Given the description of an element on the screen output the (x, y) to click on. 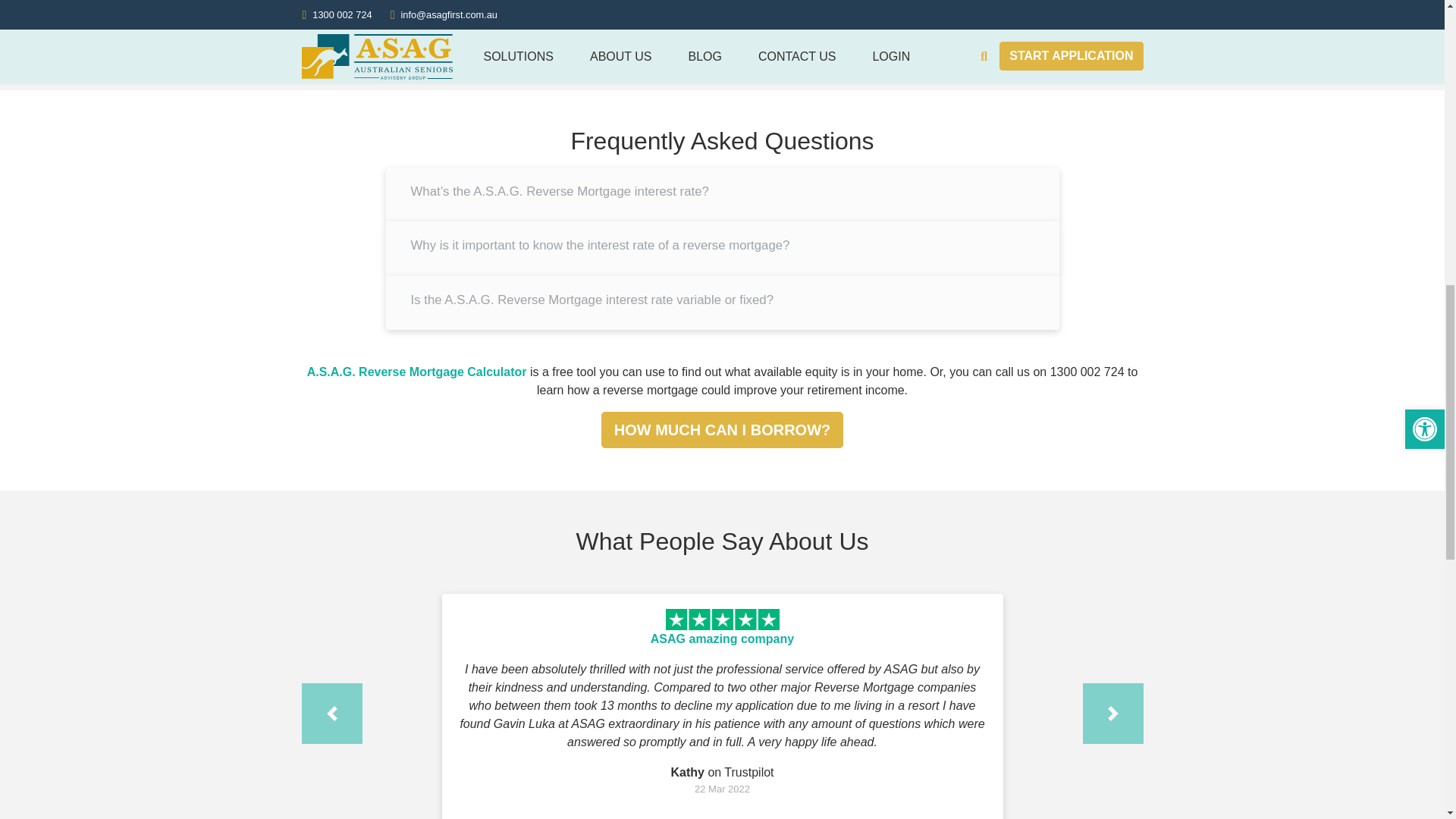
HOW MUCH CAN I BORROW? (422, 13)
